Given the description of an element on the screen output the (x, y) to click on. 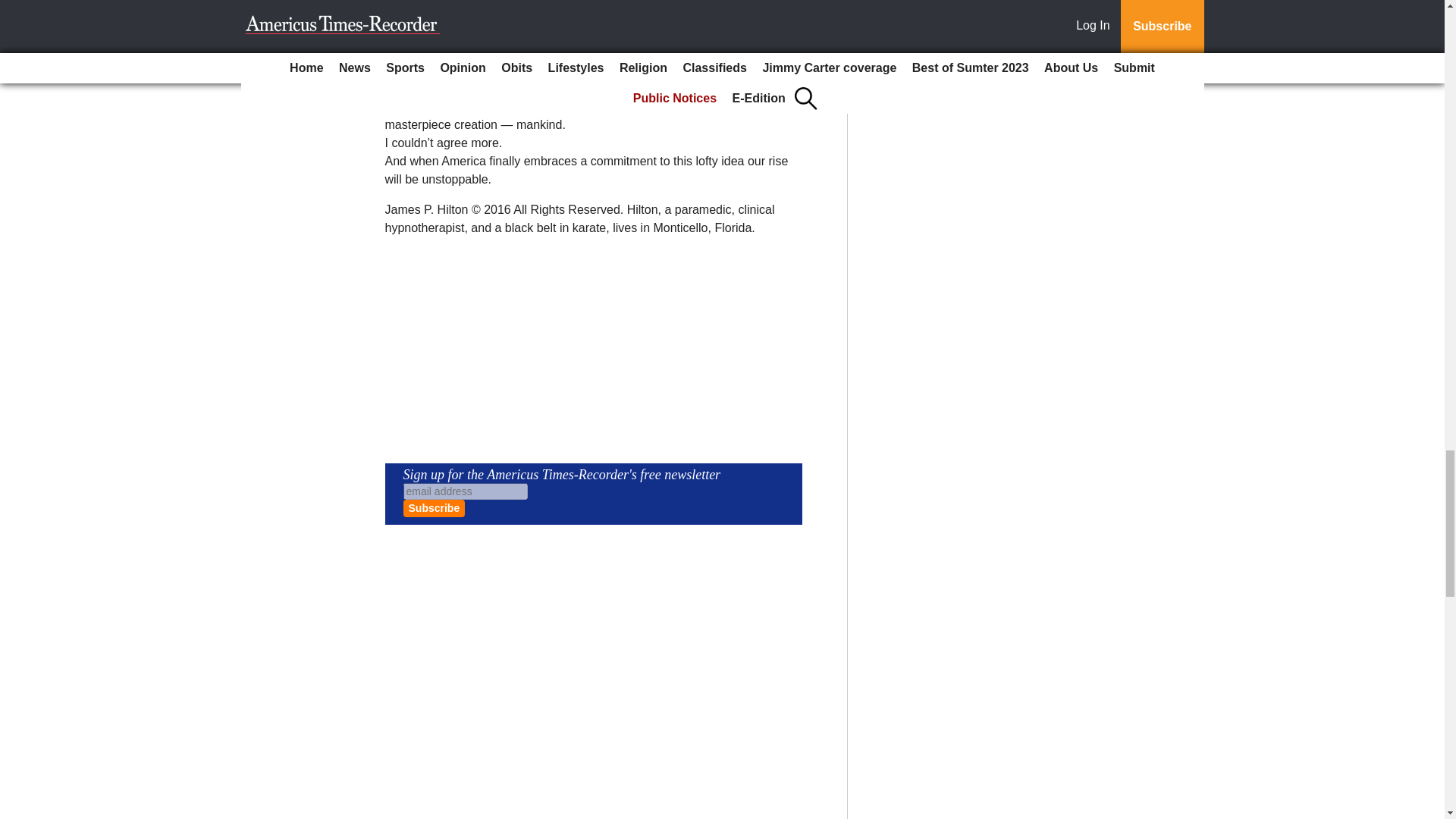
Subscribe (434, 507)
Subscribe (434, 507)
